Given the description of an element on the screen output the (x, y) to click on. 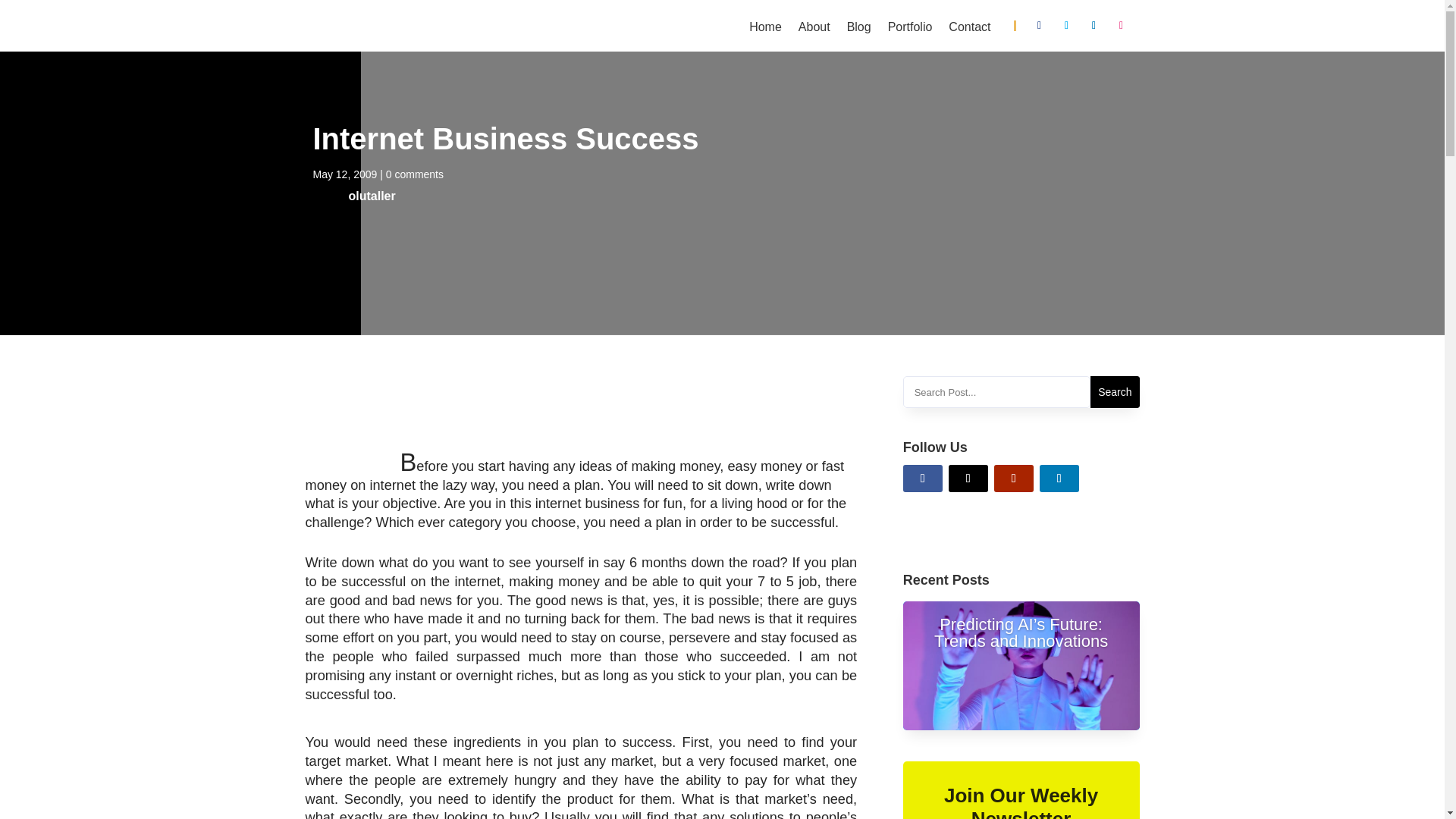
Follow on Facebook (1038, 25)
Follow on LinkedIn (1093, 25)
0 comments (414, 174)
Contact (969, 30)
Follow on Youtube (1013, 478)
ddh023-033 (403, 39)
Home (765, 30)
Search (1114, 391)
About (813, 30)
Search (1114, 391)
